Given the description of an element on the screen output the (x, y) to click on. 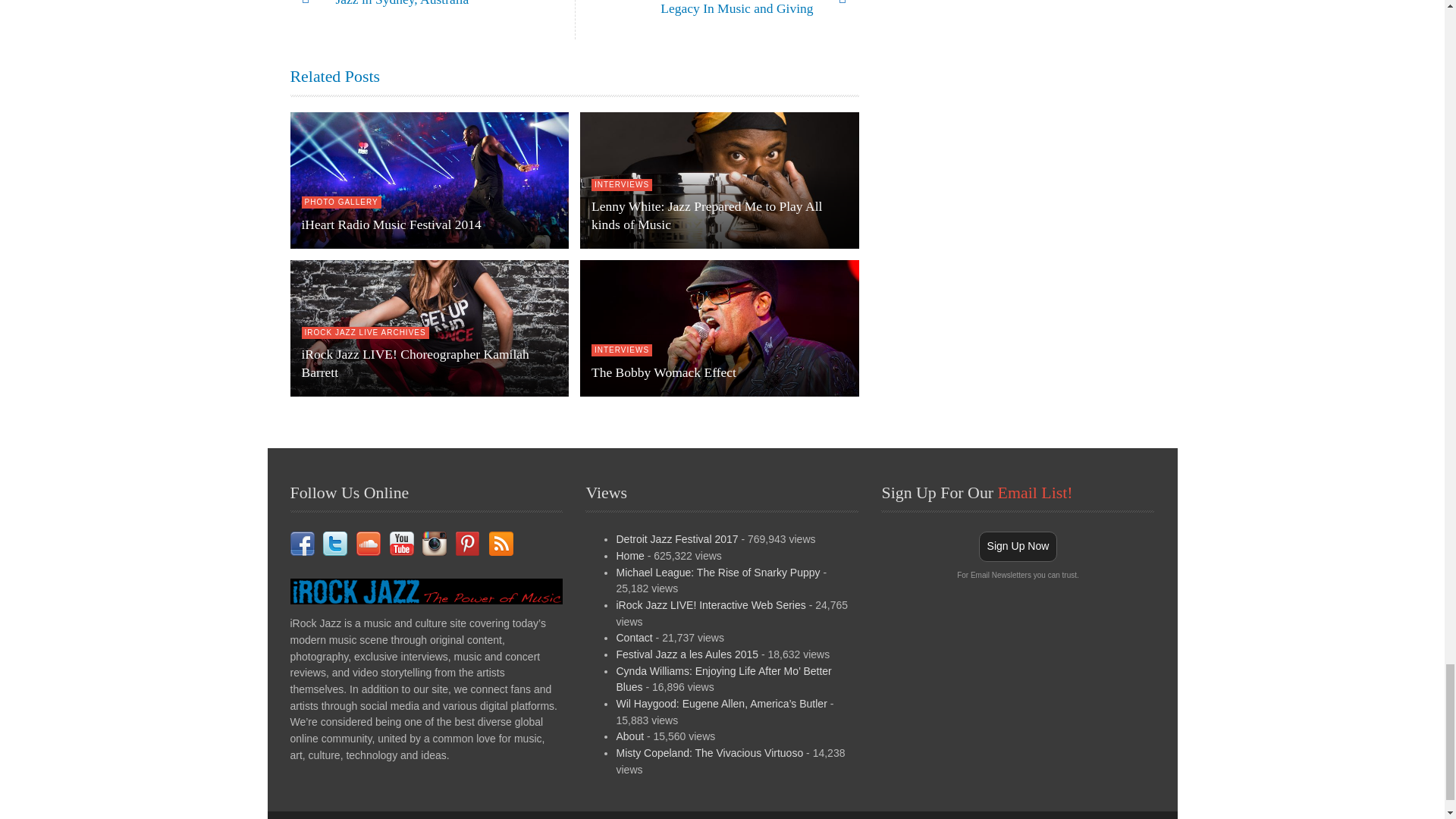
View all posts in Interviews (621, 184)
View all posts in Photo Gallery (341, 202)
